Given the description of an element on the screen output the (x, y) to click on. 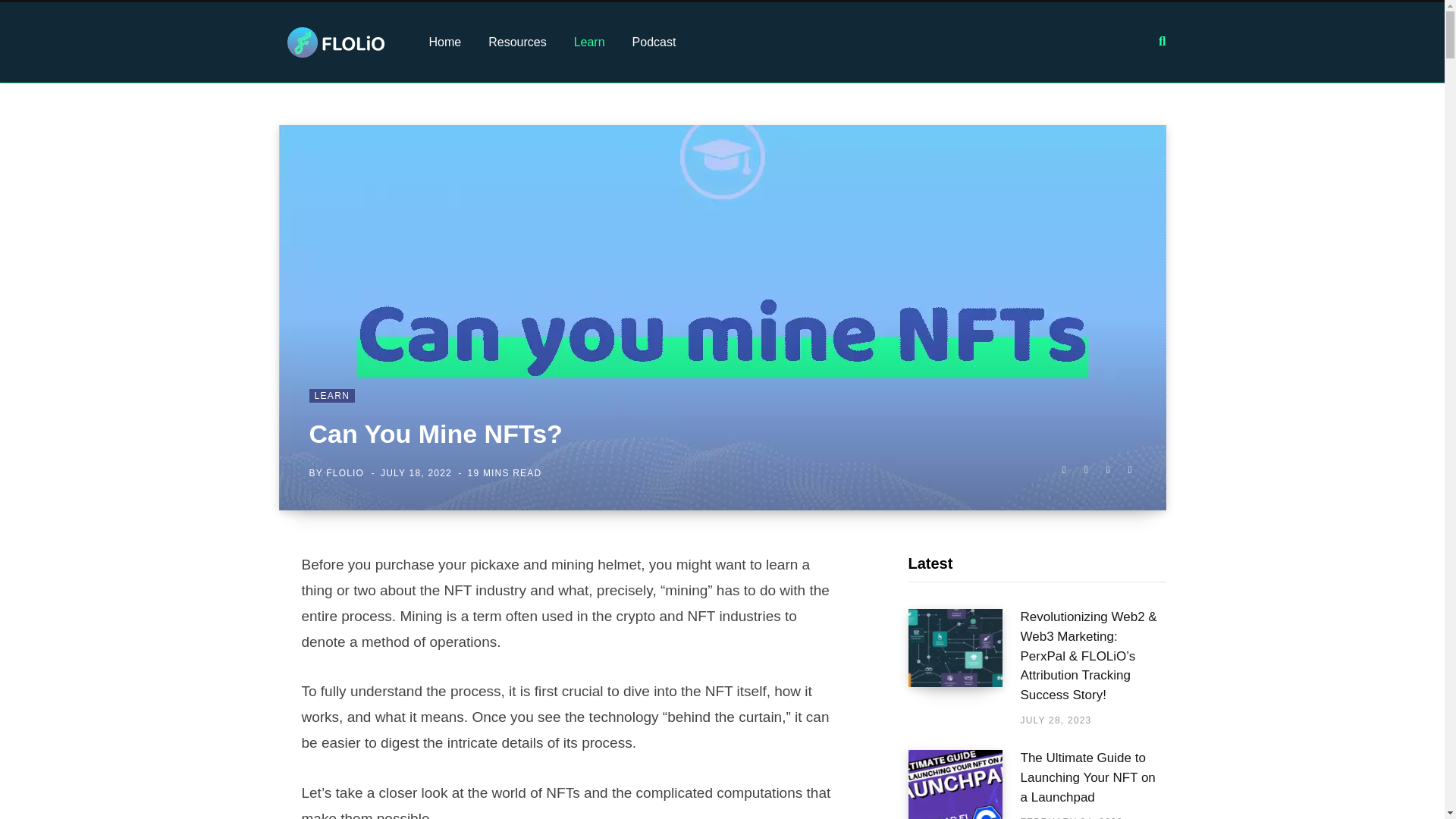
Share on Twitter (1086, 469)
Podcast (654, 41)
Share on Facebook (1063, 469)
Search (1162, 41)
FLOLiO (336, 42)
FLOLIO (345, 472)
Home (445, 41)
Pinterest (1130, 469)
LinkedIn (1106, 469)
Learn (589, 41)
LEARN (331, 395)
Posts by FLOLiO (345, 472)
Resources (516, 41)
